Given the description of an element on the screen output the (x, y) to click on. 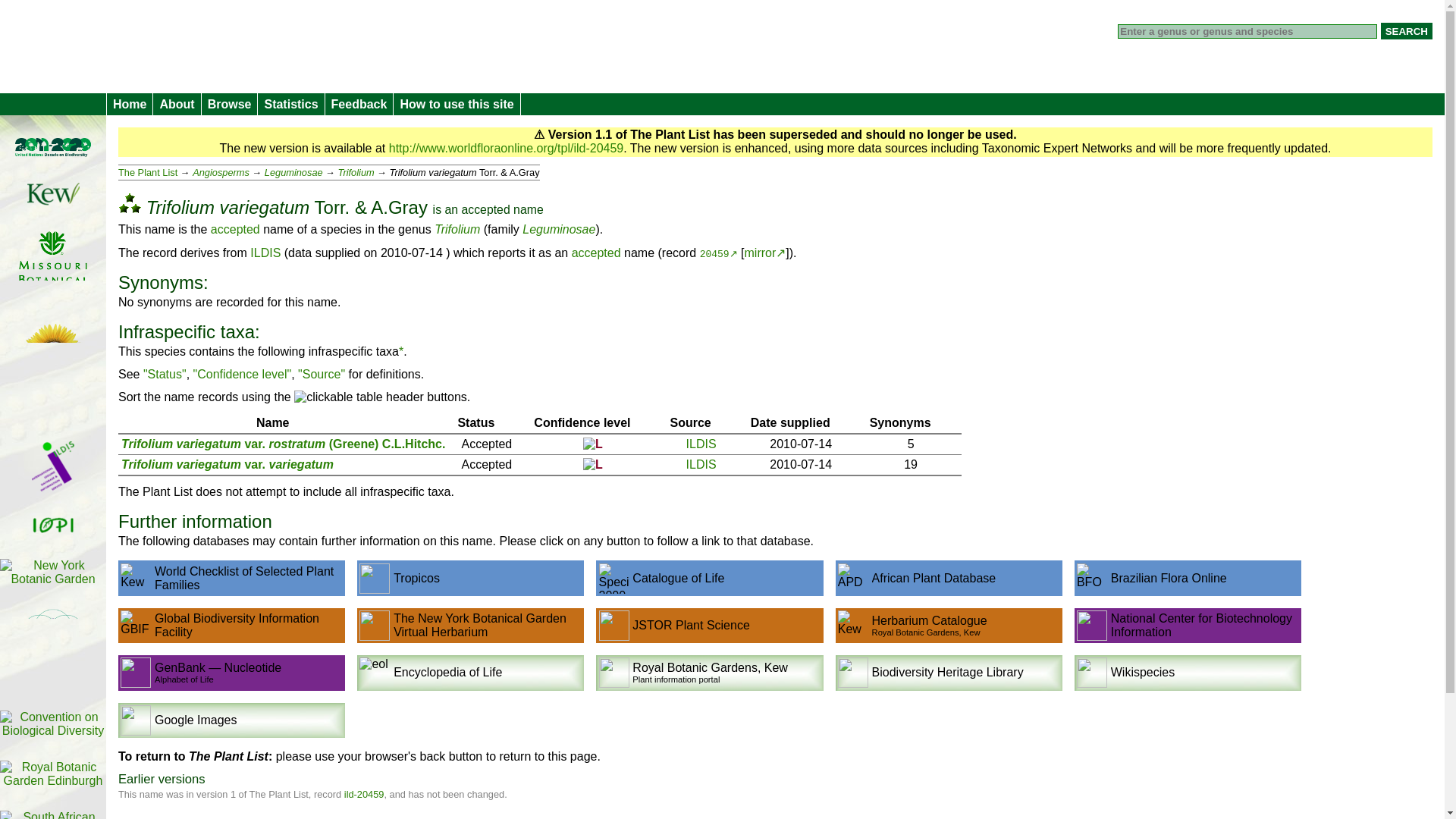
About (176, 104)
20459 (719, 254)
"Status" (164, 375)
ILDIS (700, 448)
mirror (767, 252)
Trifolium (456, 228)
Search (1406, 30)
Trifolium (355, 172)
alternative site (767, 252)
Angiosperms (220, 172)
